Given the description of an element on the screen output the (x, y) to click on. 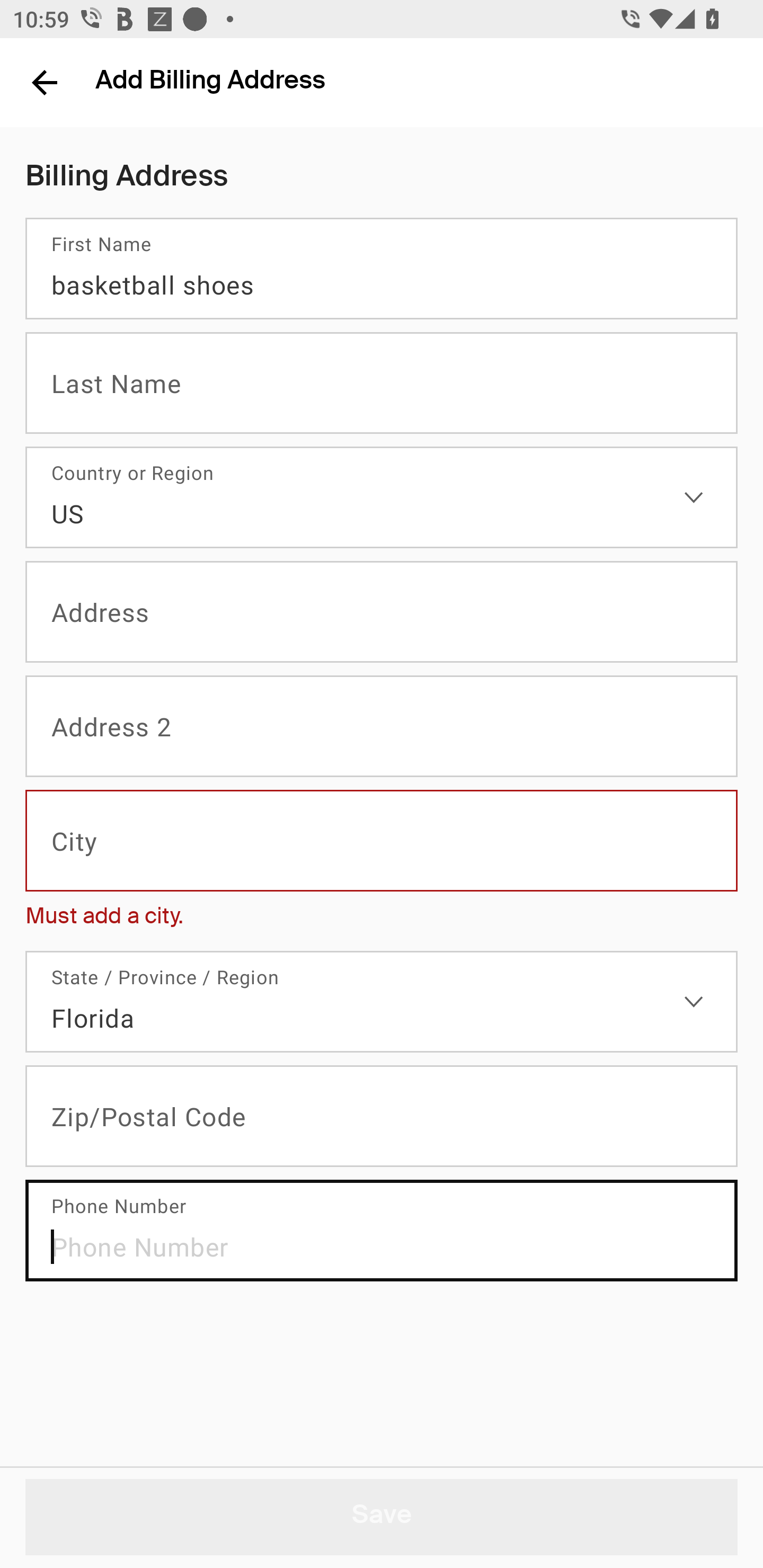
Navigate up (44, 82)
basketball shoes
 First Name (381, 268)
Last Name (381, 383)
Address (381, 612)
Address 2 (381, 726)
City Must add a city. (381, 863)
Zip/Postal Code (381, 1115)
Phone Number (381, 1230)
Save (381, 1516)
